Given the description of an element on the screen output the (x, y) to click on. 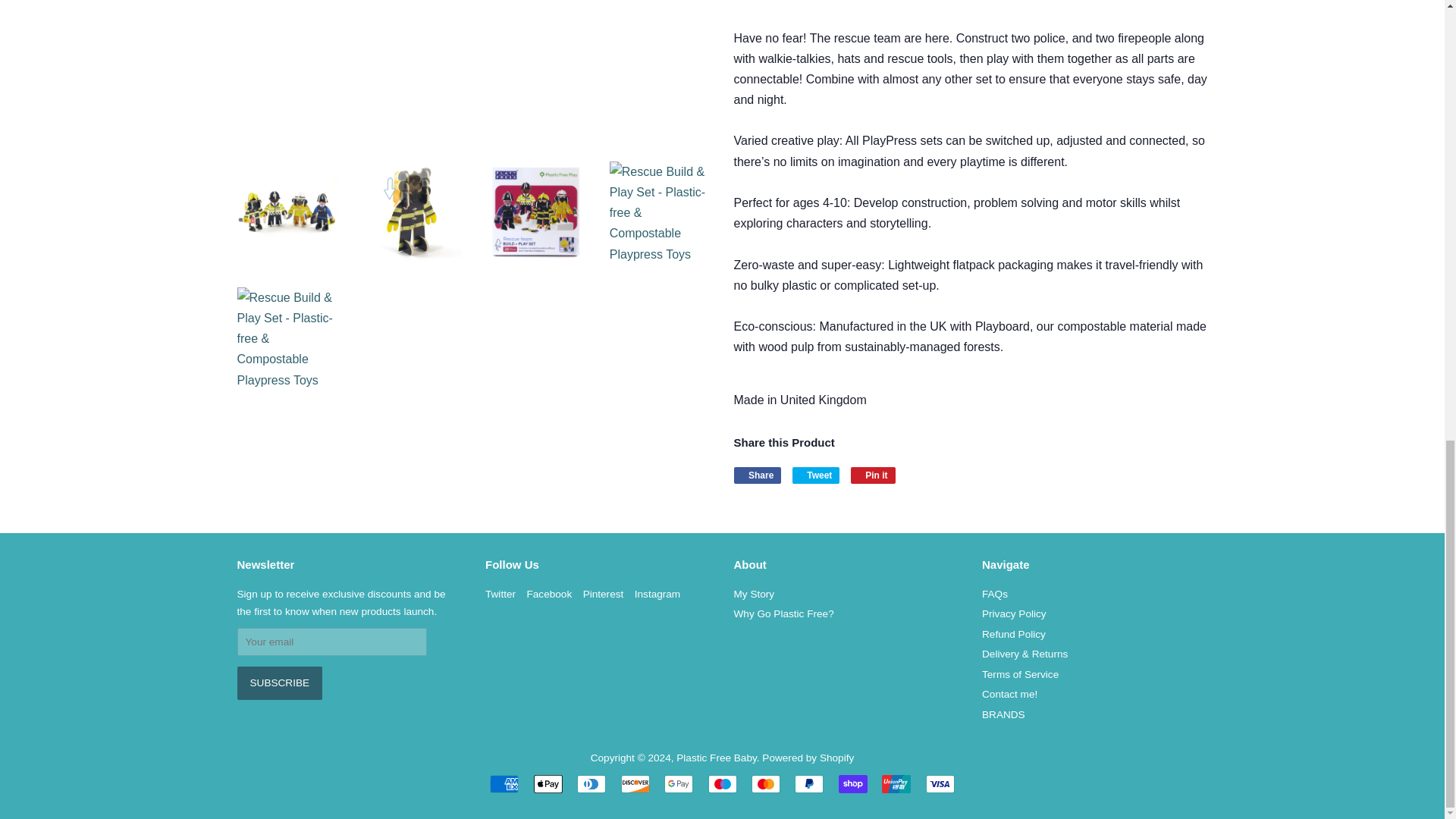
Plastic Free Baby on Facebook (548, 593)
Plastic Free Baby on Twitter (499, 593)
Subscribe (278, 683)
Maestro (721, 783)
Union Pay (896, 783)
Discover (635, 783)
American Express (503, 783)
PayPal (809, 783)
Google Pay (678, 783)
Plastic Free Baby on Pinterest (603, 593)
Share on Facebook (757, 475)
Diners Club (590, 783)
Mastercard (765, 783)
Pin on Pinterest (872, 475)
Shop Pay (852, 783)
